Given the description of an element on the screen output the (x, y) to click on. 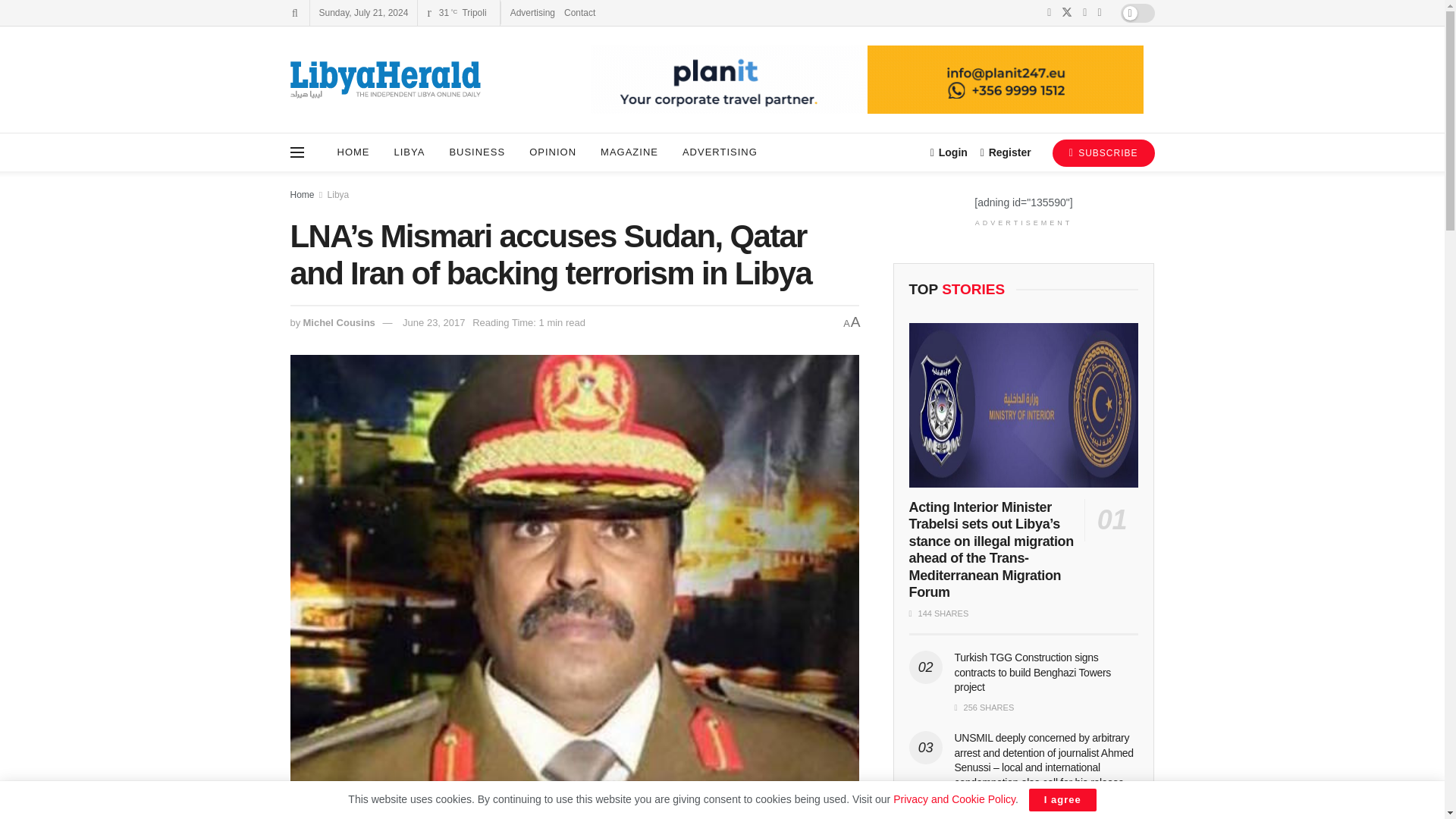
Register (1004, 152)
Michel Cousins (338, 322)
Libya (338, 194)
MAGAZINE (628, 152)
June 23, 2017 (433, 322)
BUSINESS (476, 152)
Home (301, 194)
LIBYA (409, 152)
ADVERTISING (719, 152)
Login (949, 152)
SUBSCRIBE (1103, 153)
HOME (352, 152)
OPINION (552, 152)
Contact (579, 12)
Advertising (532, 12)
